Given the description of an element on the screen output the (x, y) to click on. 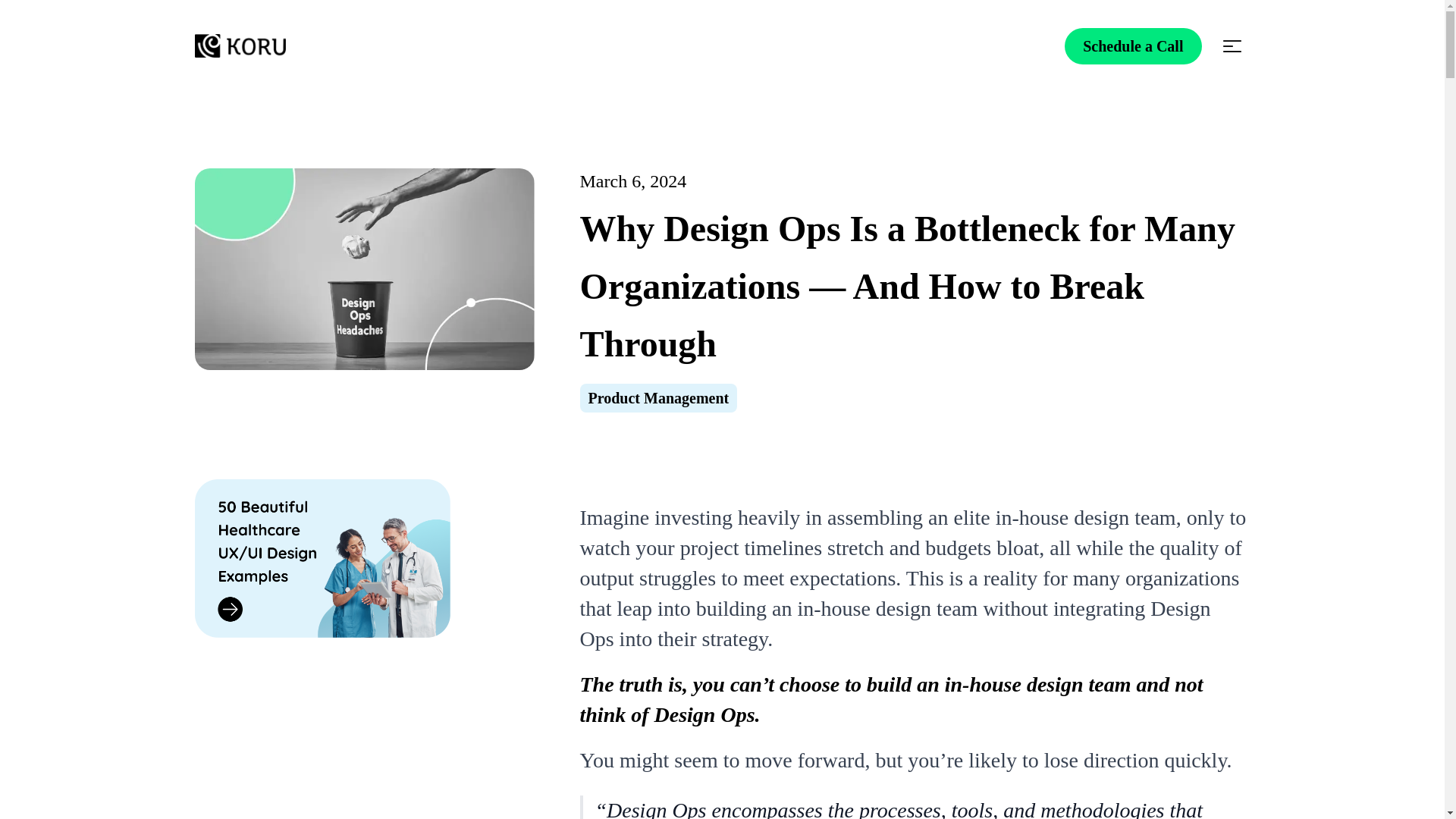
Schedule a Call (1132, 45)
